Given the description of an element on the screen output the (x, y) to click on. 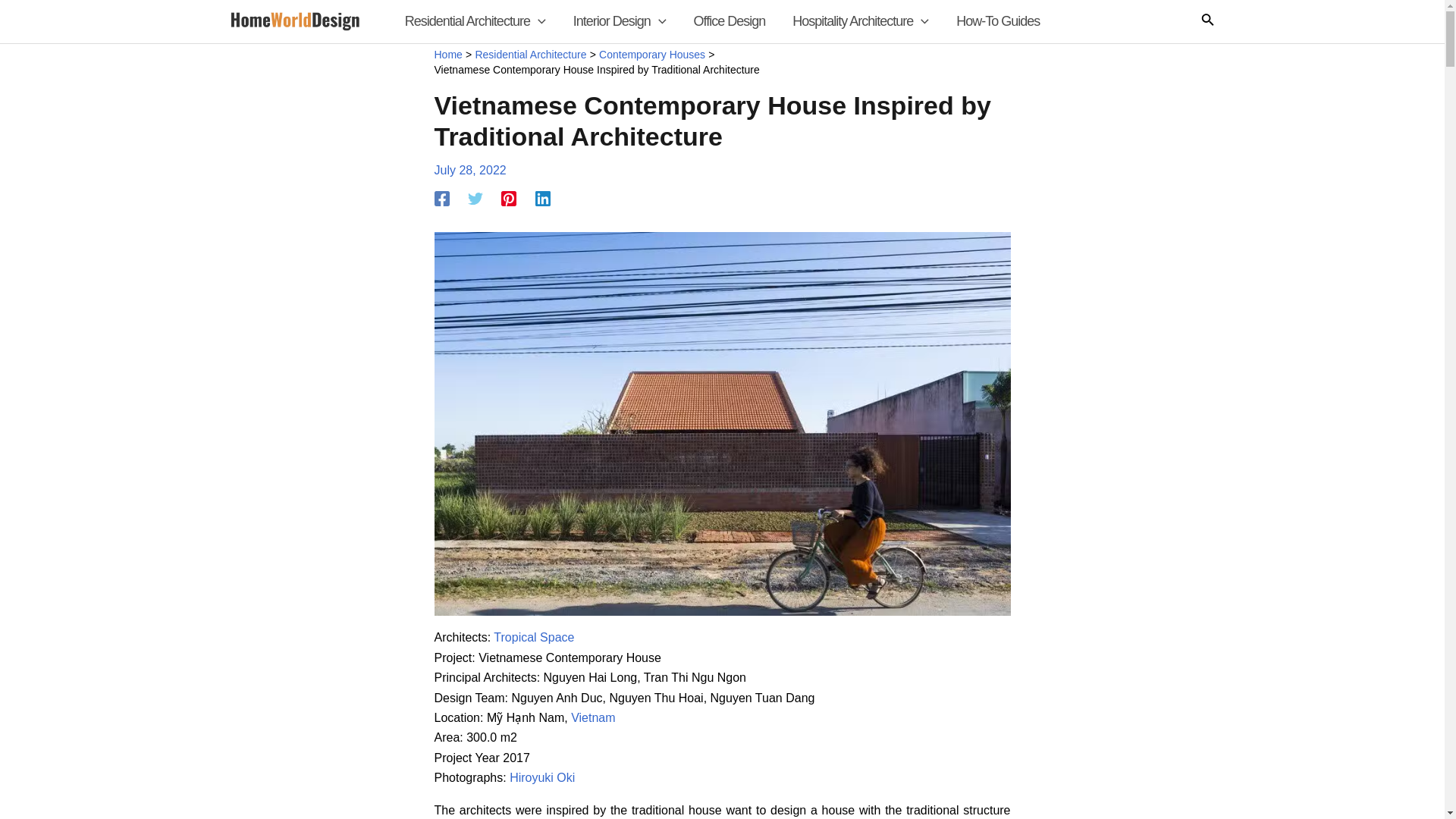
Office Design (728, 21)
Residential Architecture (475, 21)
Hospitality Architecture (860, 21)
Interior Design (619, 21)
How-To Guides (997, 21)
